Given the description of an element on the screen output the (x, y) to click on. 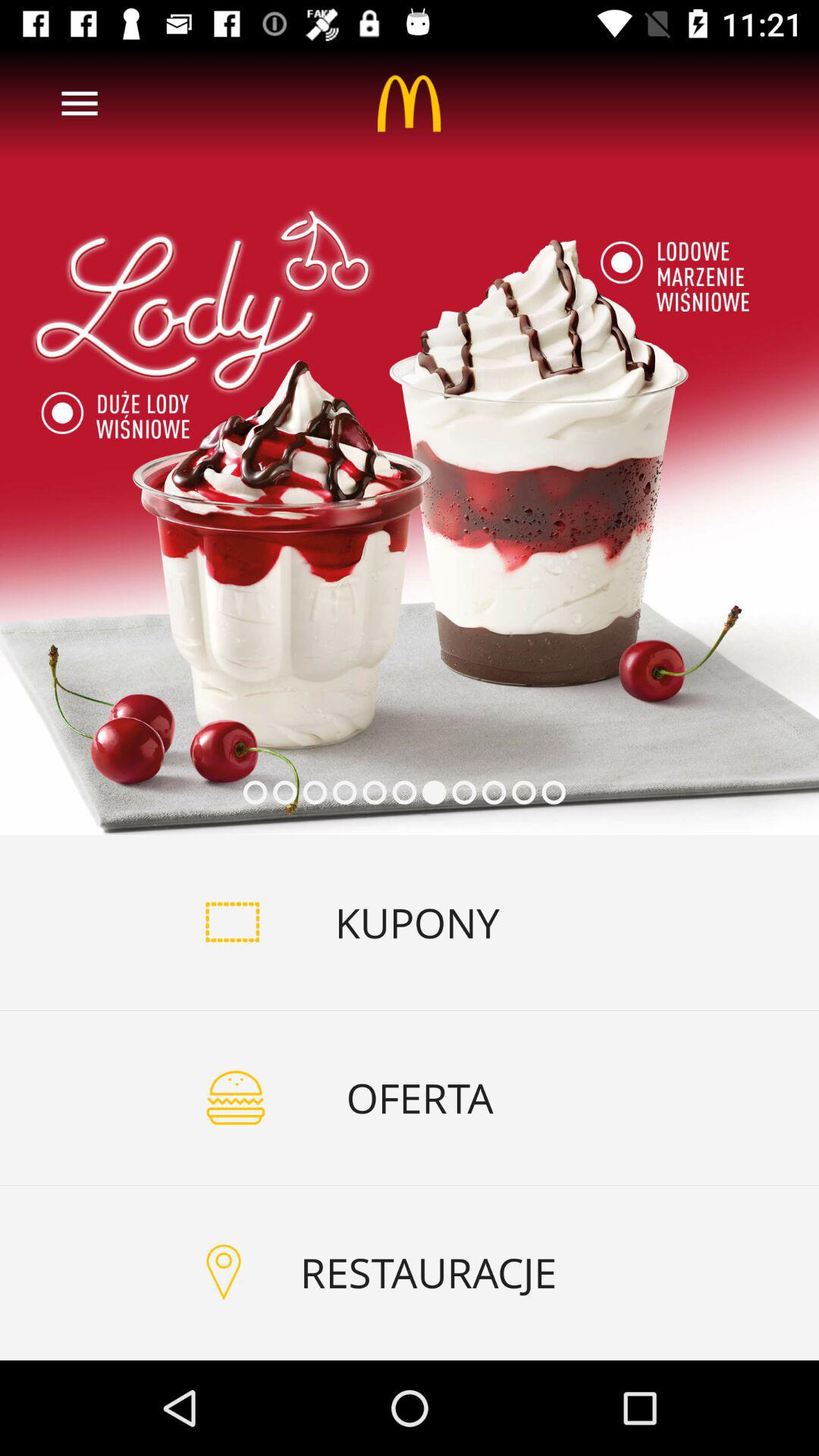
select option (409, 440)
